Given the description of an element on the screen output the (x, y) to click on. 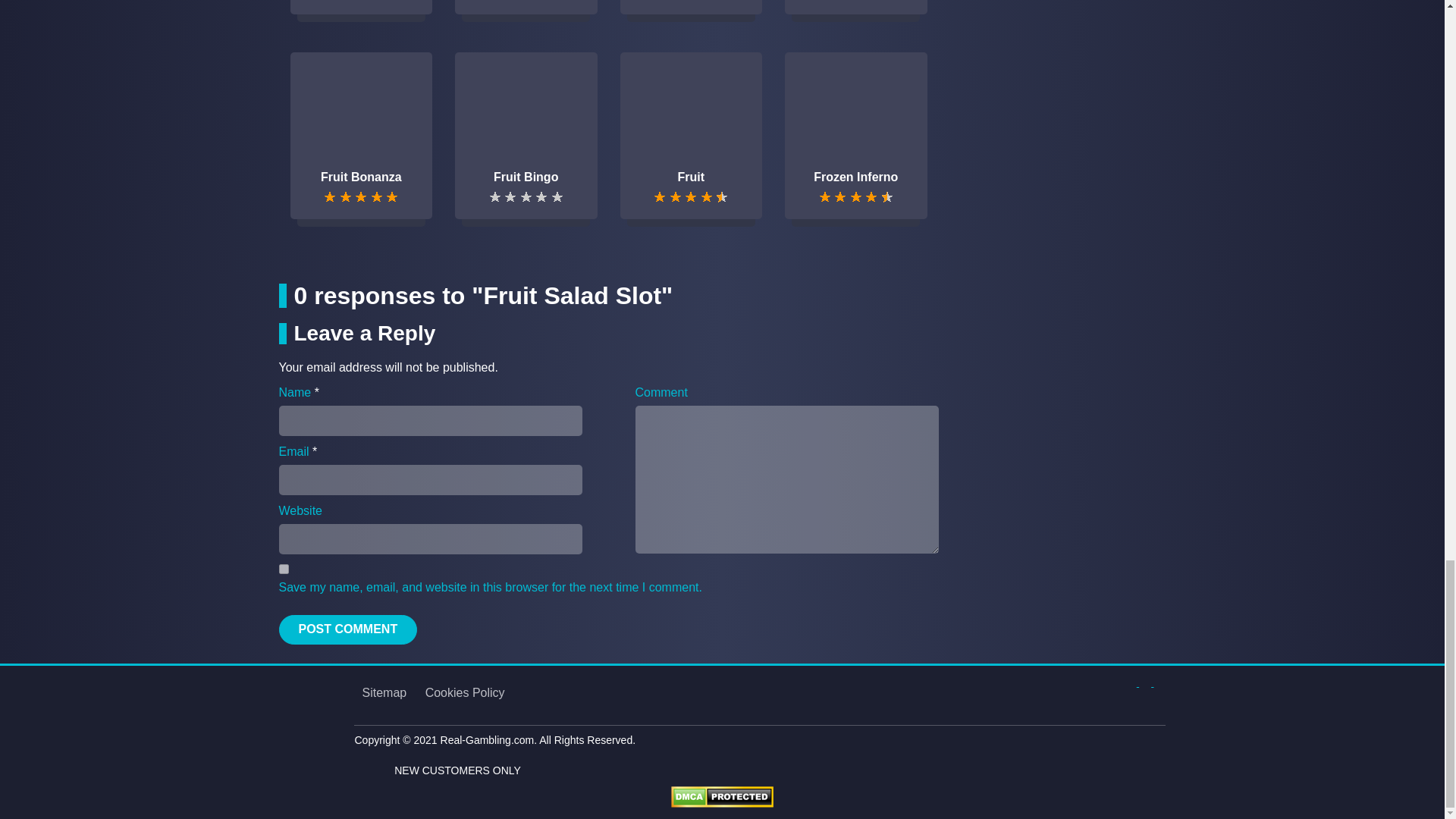
Post Comment (348, 629)
yes (283, 569)
DMCA.com Protection Status (722, 795)
